Given the description of an element on the screen output the (x, y) to click on. 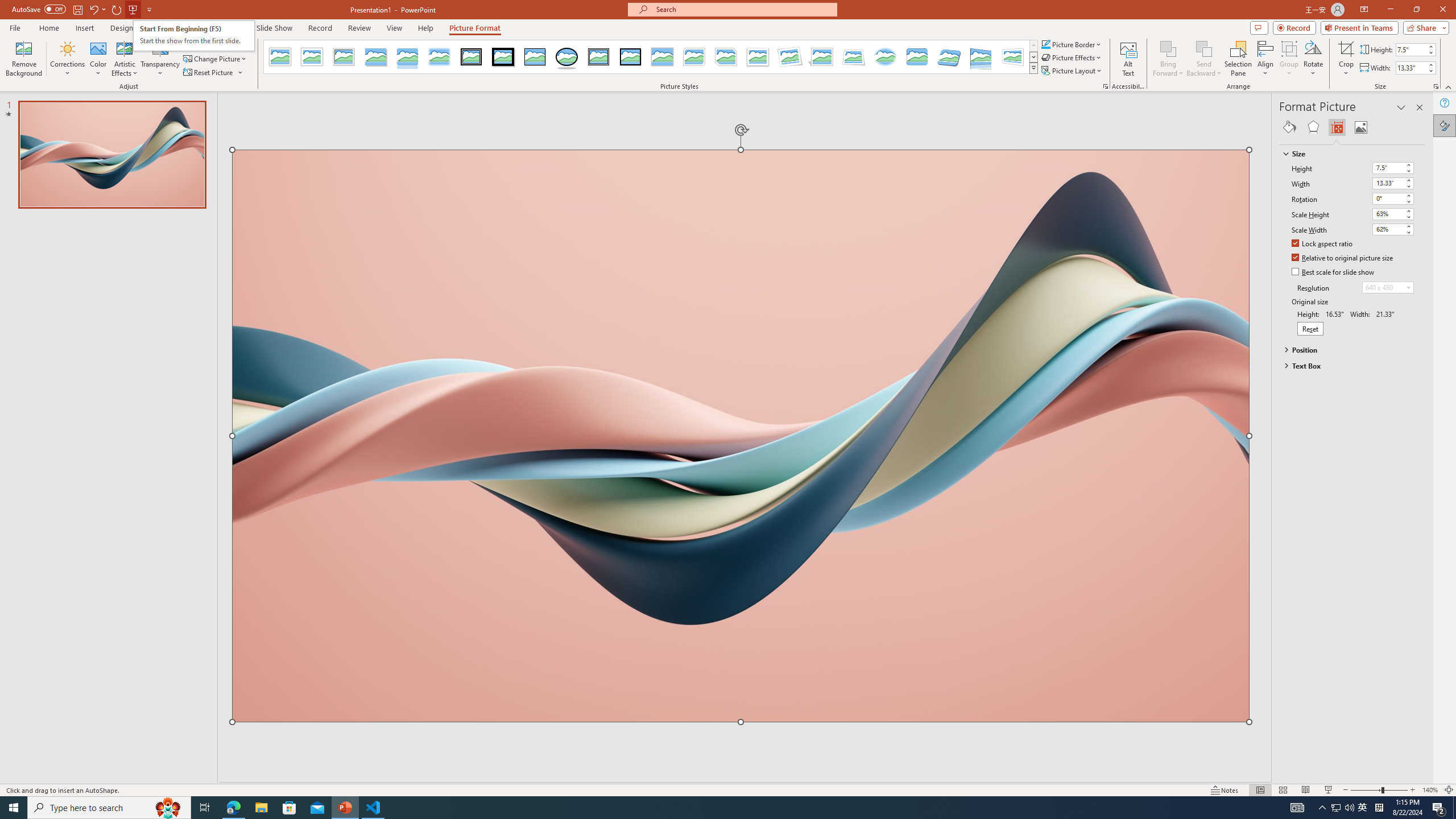
Crop (1345, 48)
Row up (1033, 45)
Relaxed Perspective, White (853, 56)
Record (320, 28)
Comments (1259, 27)
Fill & Line (1288, 126)
Less (1430, 70)
Open (1408, 287)
Bevel Perspective (949, 56)
Help (1444, 102)
Color (97, 58)
Change Picture (216, 58)
Scale Height (1388, 213)
Remove Background (23, 58)
Undo (92, 9)
